Given the description of an element on the screen output the (x, y) to click on. 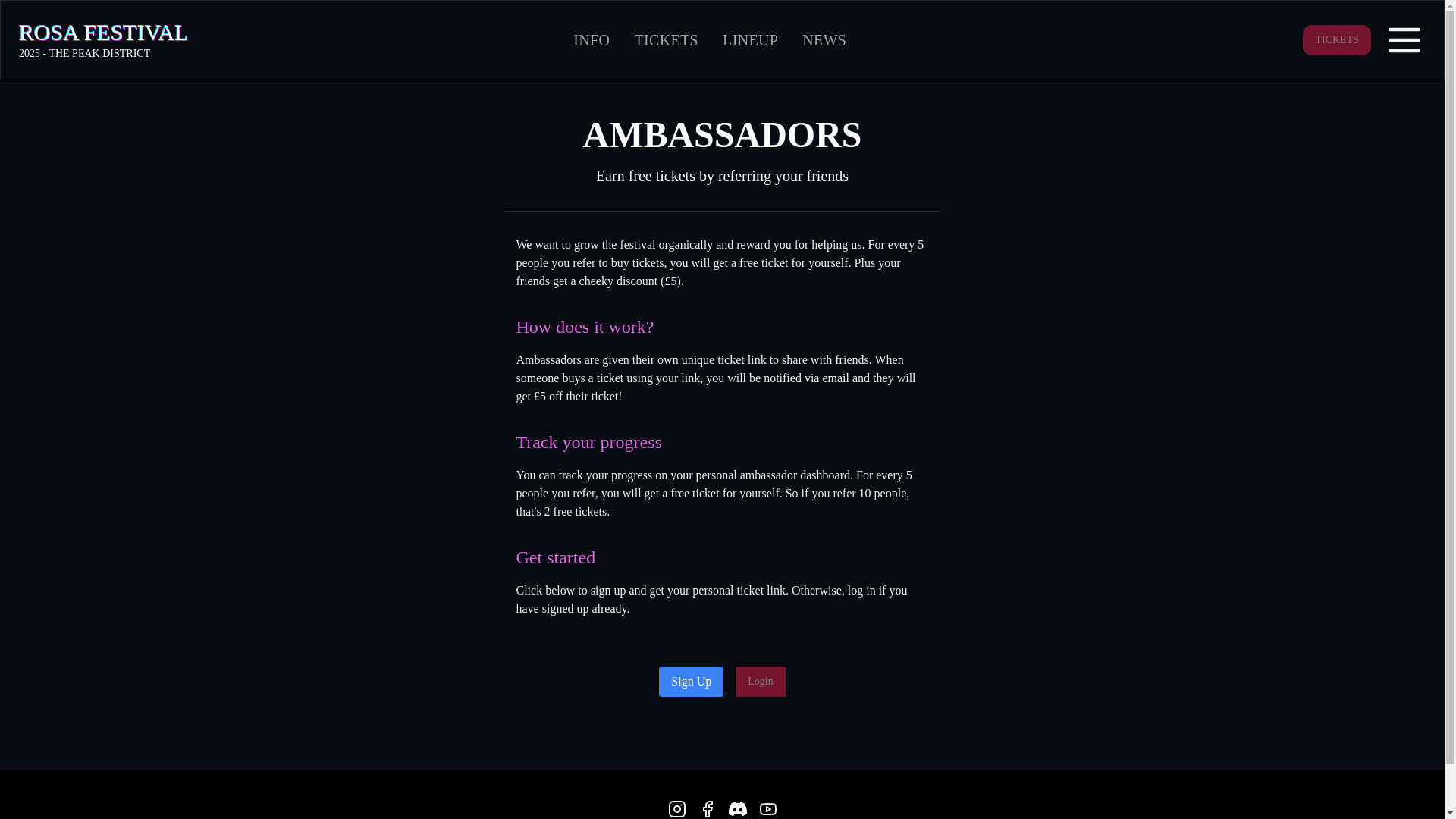
NEWS (823, 39)
LINEUP (749, 39)
Sign Up (691, 681)
Login (103, 39)
TICKETS (759, 681)
TICKETS (665, 39)
INFO (1337, 40)
